Given the description of an element on the screen output the (x, y) to click on. 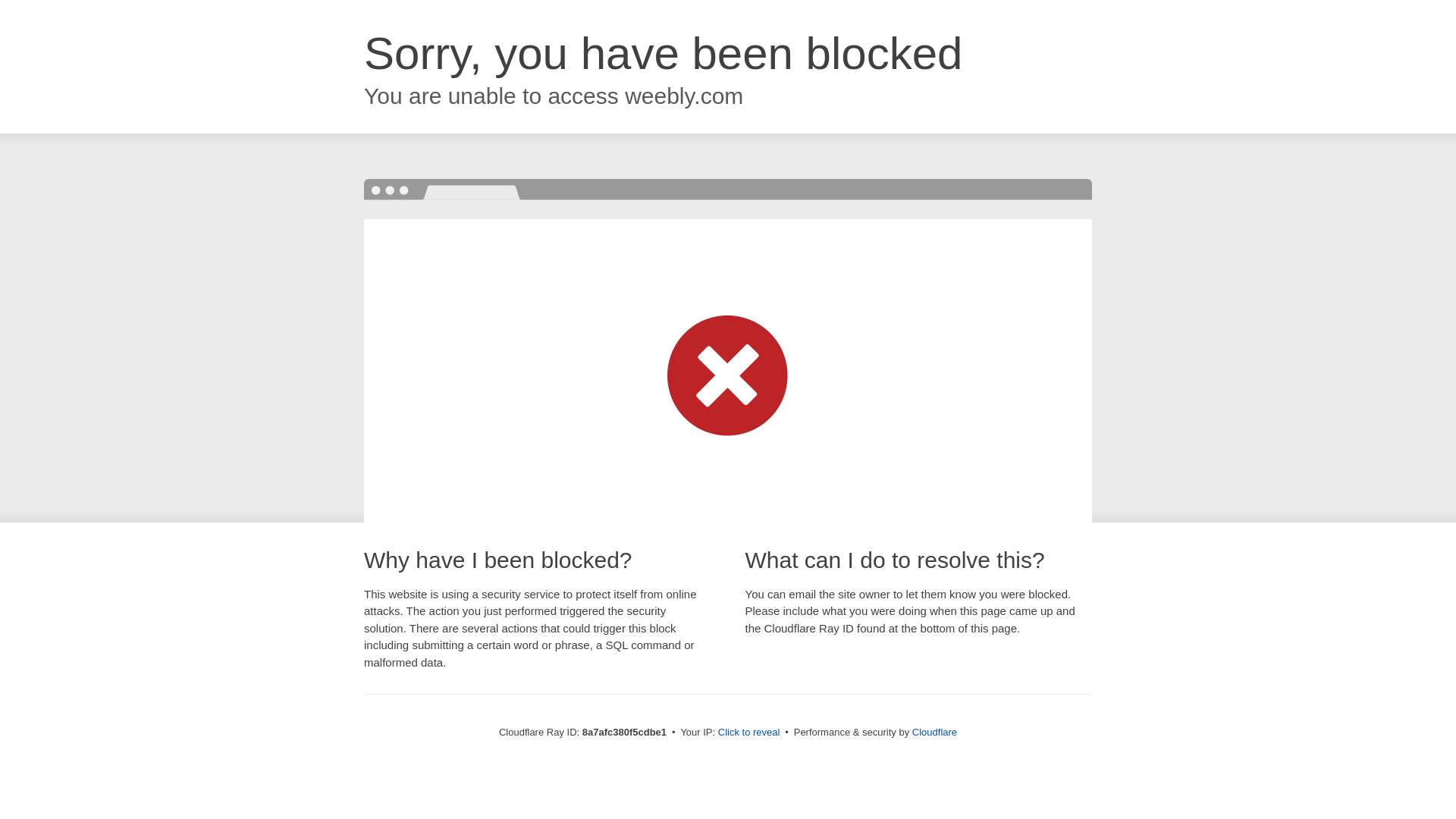
Click to reveal (748, 732)
Cloudflare (934, 731)
